Given the description of an element on the screen output the (x, y) to click on. 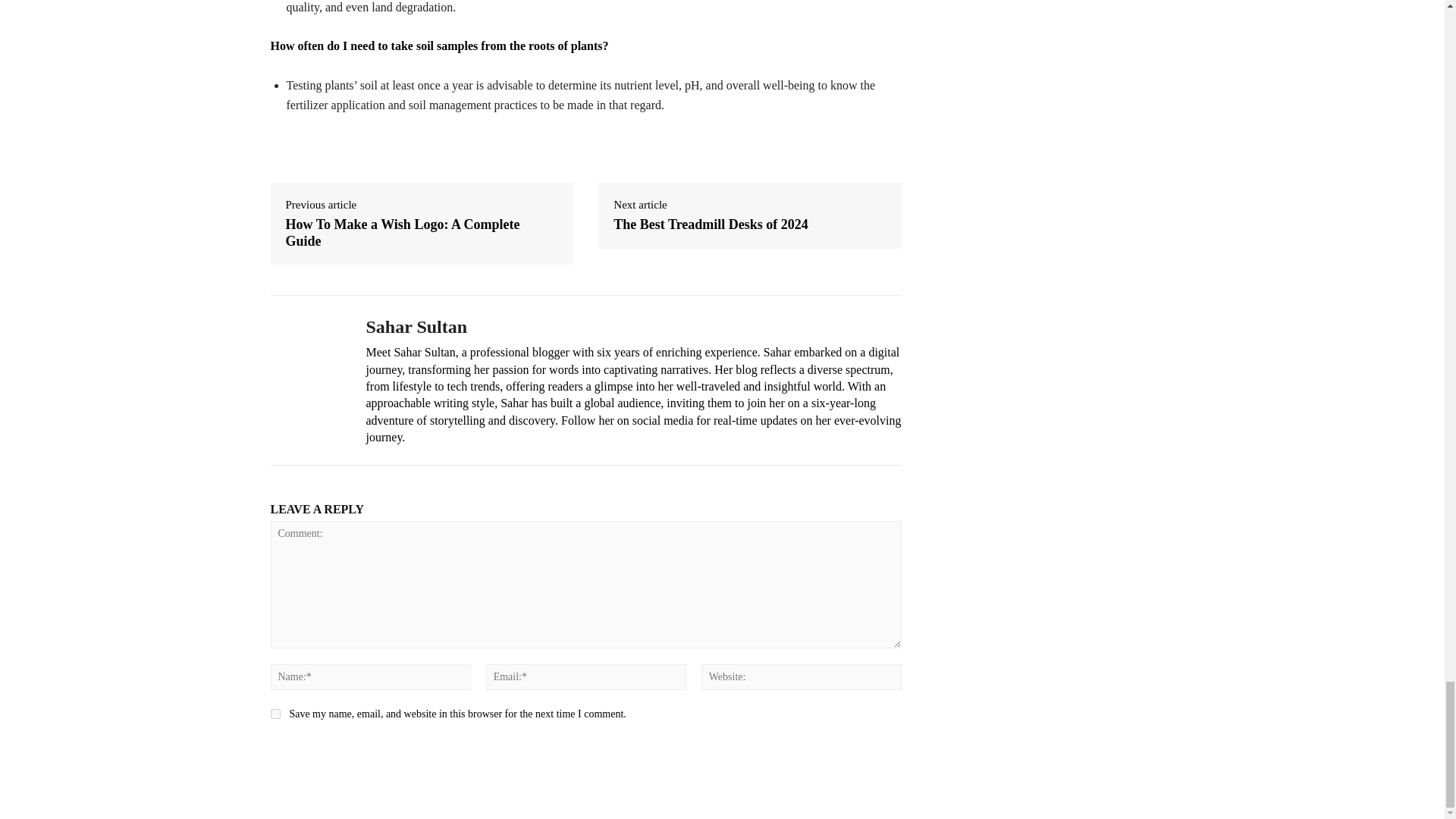
How To Make a Wish Logo: A Complete Guide (421, 233)
yes (274, 714)
Sahar Sultan (633, 327)
The Best Treadmill Desks of 2024 (710, 225)
